Given the description of an element on the screen output the (x, y) to click on. 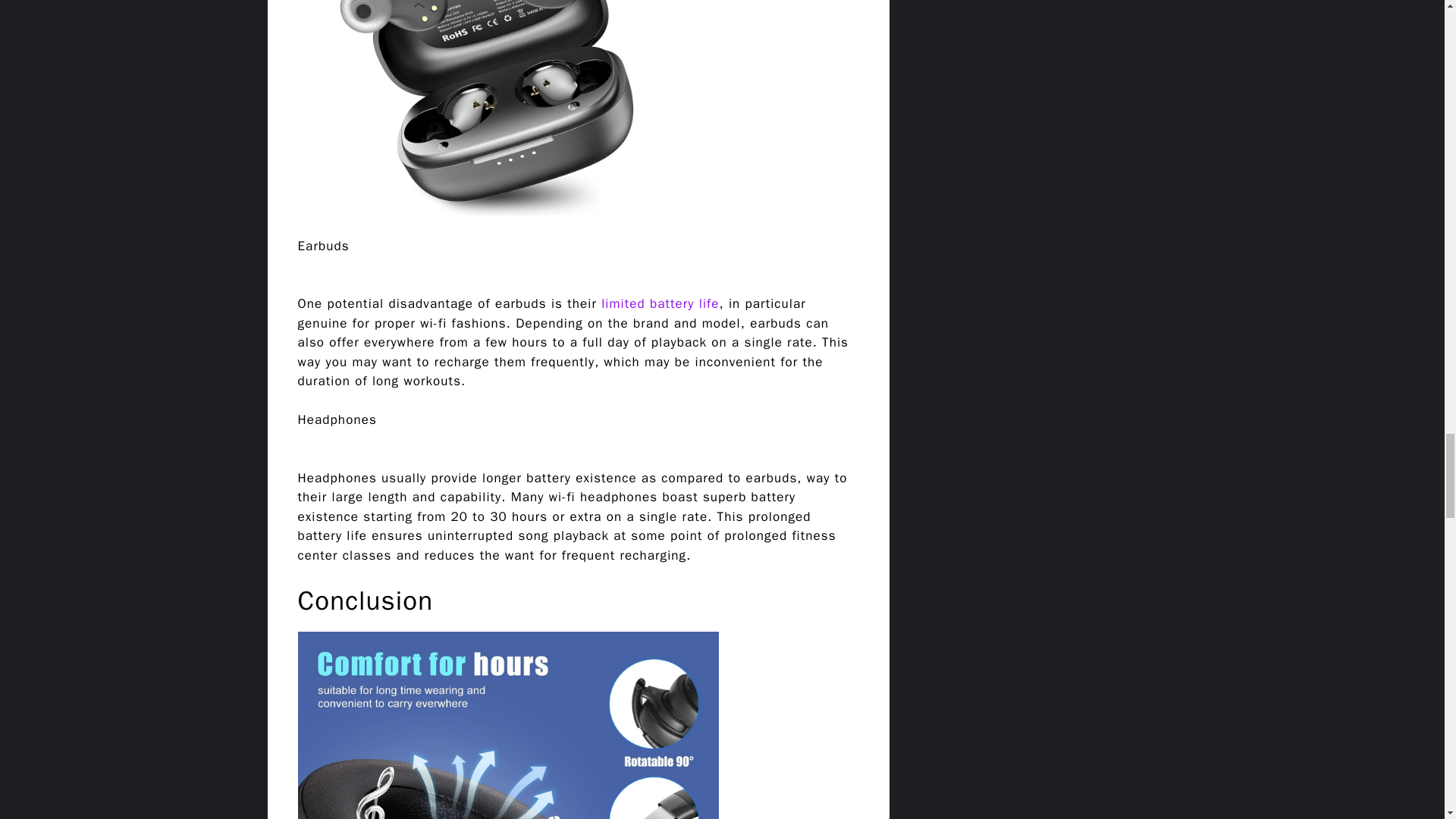
limited battery life (657, 303)
